Given the description of an element on the screen output the (x, y) to click on. 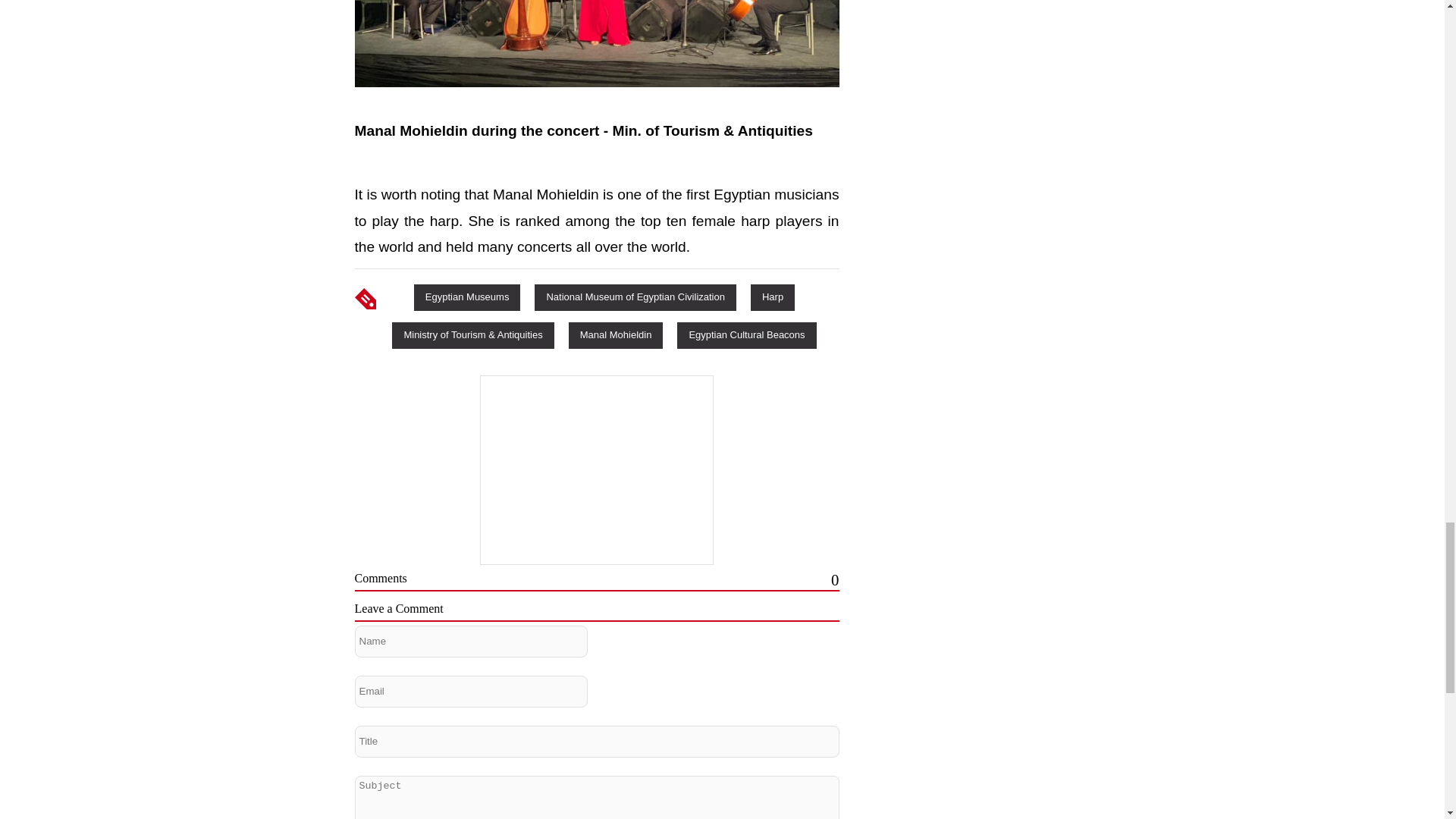
National Museum of Egyptian Civilization (635, 296)
Egyptian Museums (467, 296)
Harp (772, 296)
Egyptian Cultural Beacons (746, 334)
Manal Mohieldin (616, 334)
